Given the description of an element on the screen output the (x, y) to click on. 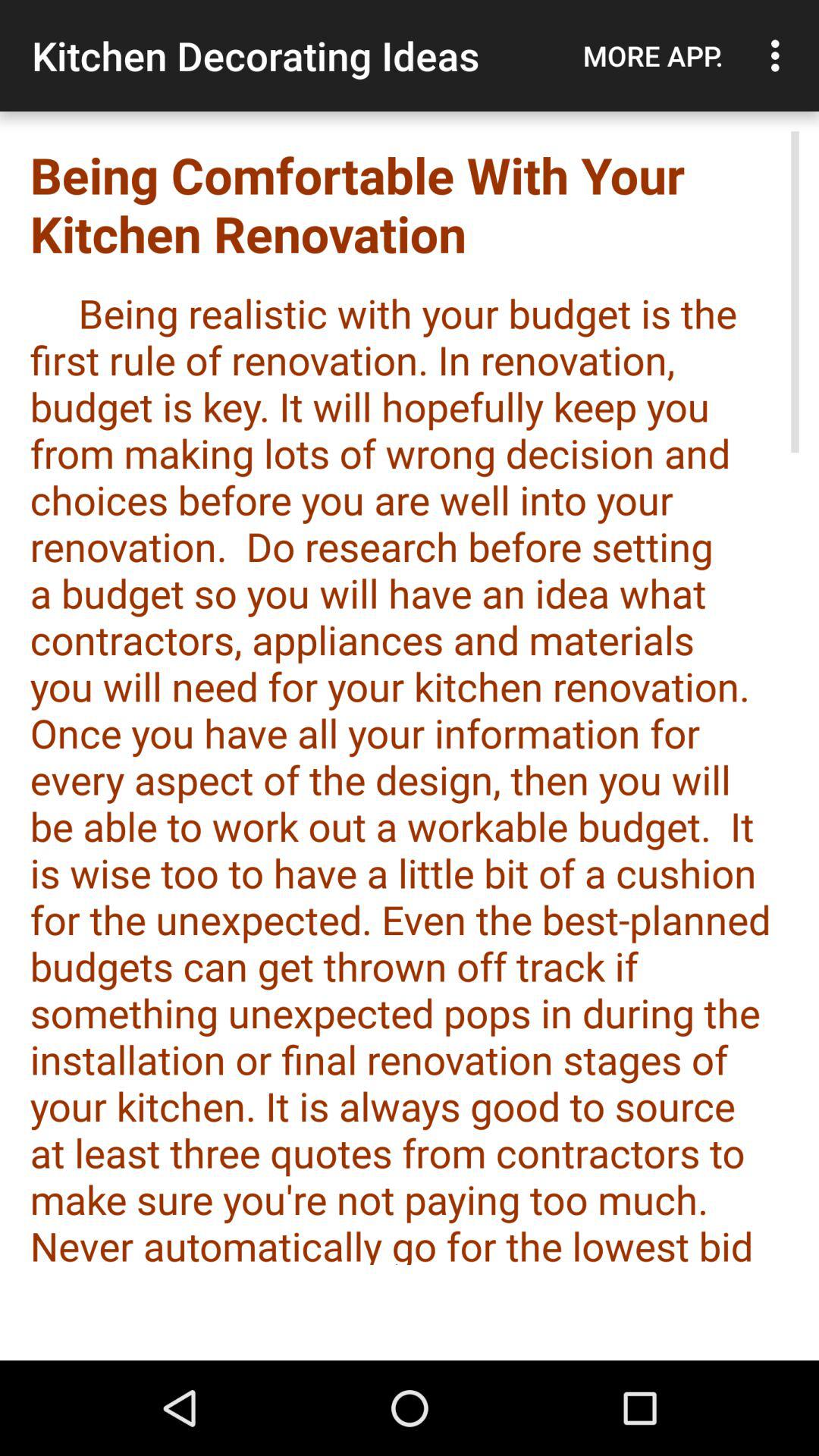
turn off the icon above being comfortable with item (653, 55)
